Given the description of an element on the screen output the (x, y) to click on. 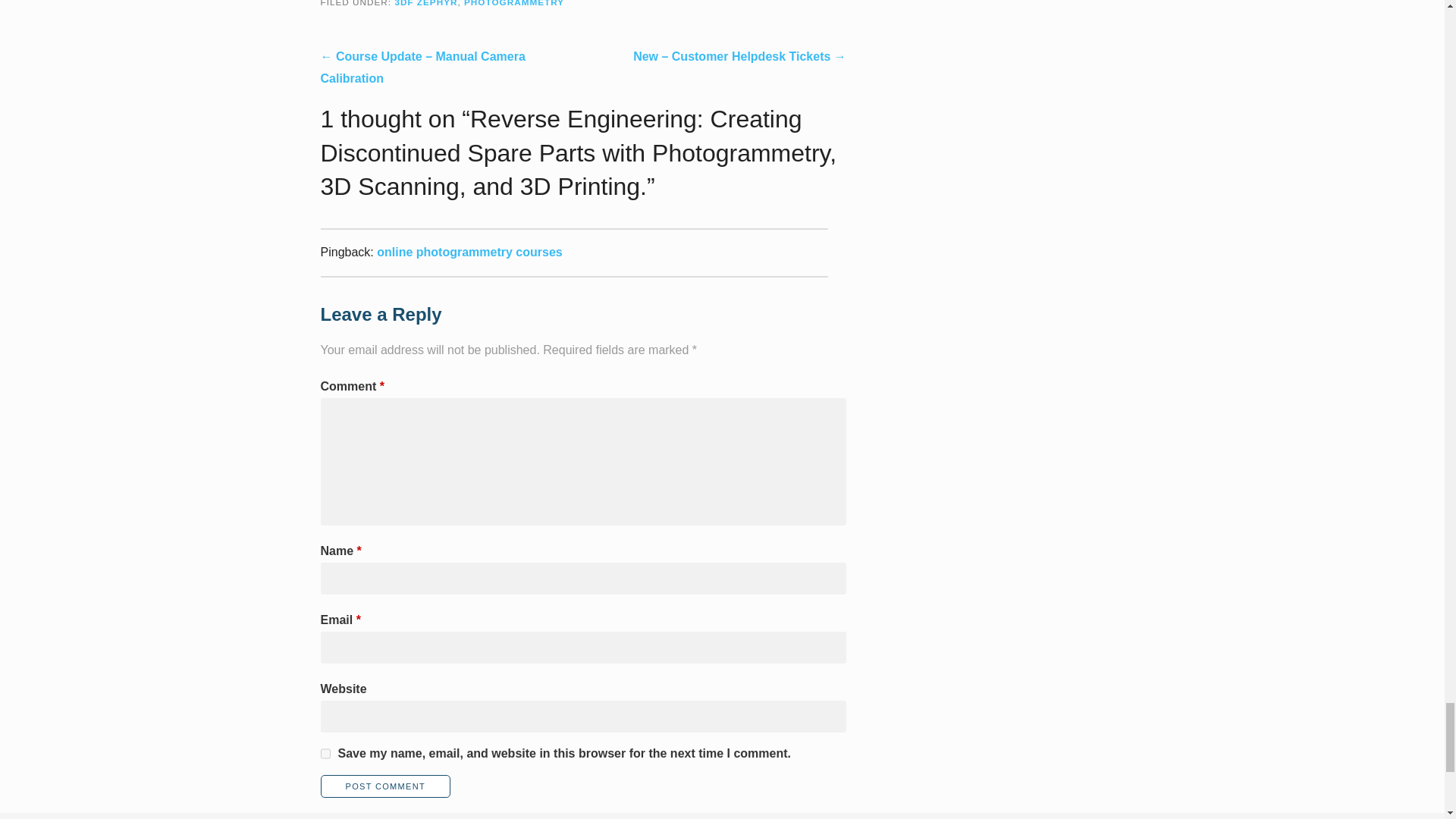
PHOTOGRAMMETRY (514, 3)
Post Comment (384, 785)
Post Comment (384, 785)
3DF ZEPHYR (425, 3)
online photogrammetry courses (469, 251)
